Given the description of an element on the screen output the (x, y) to click on. 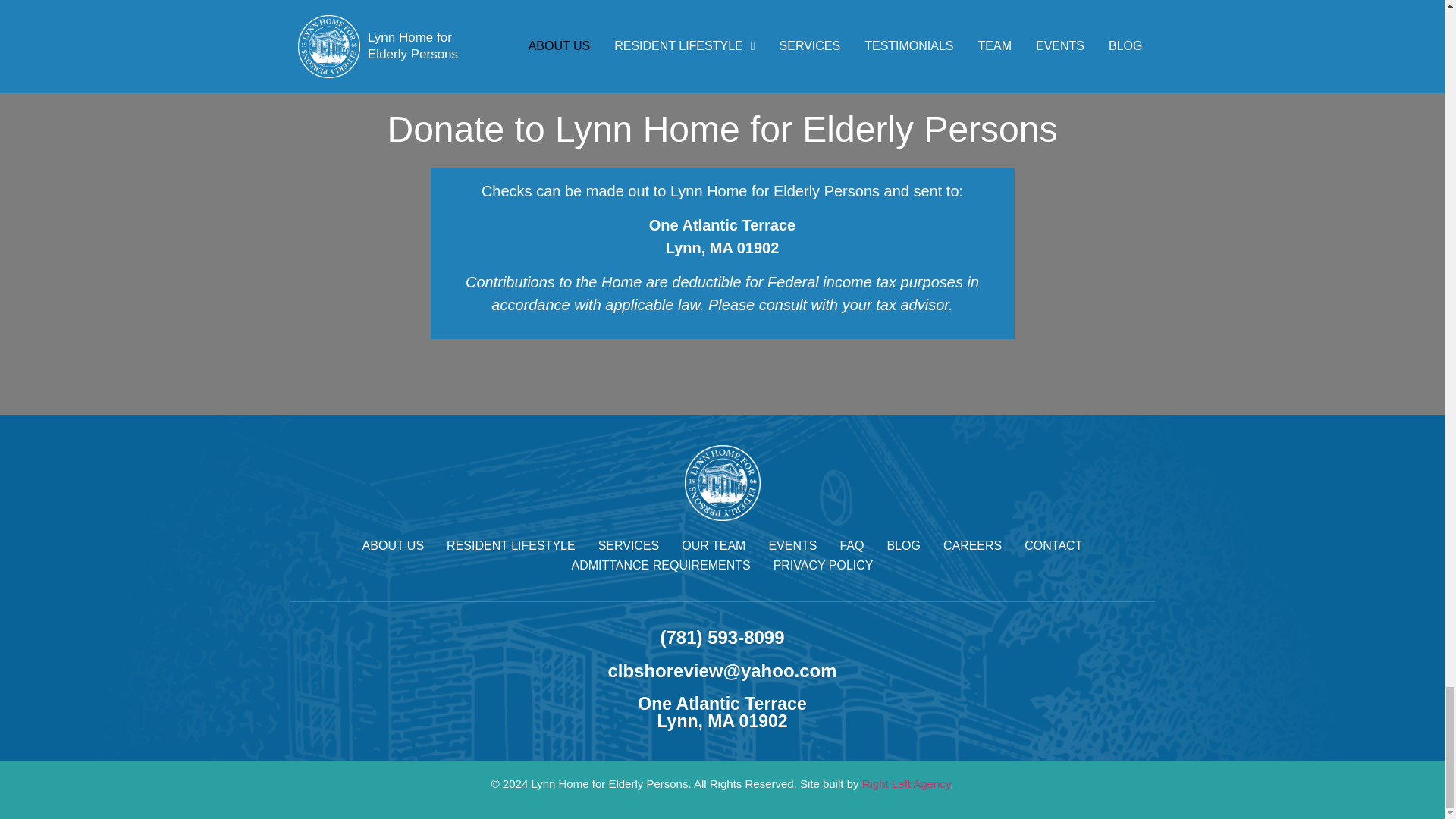
ABOUT US (393, 546)
